Given the description of an element on the screen output the (x, y) to click on. 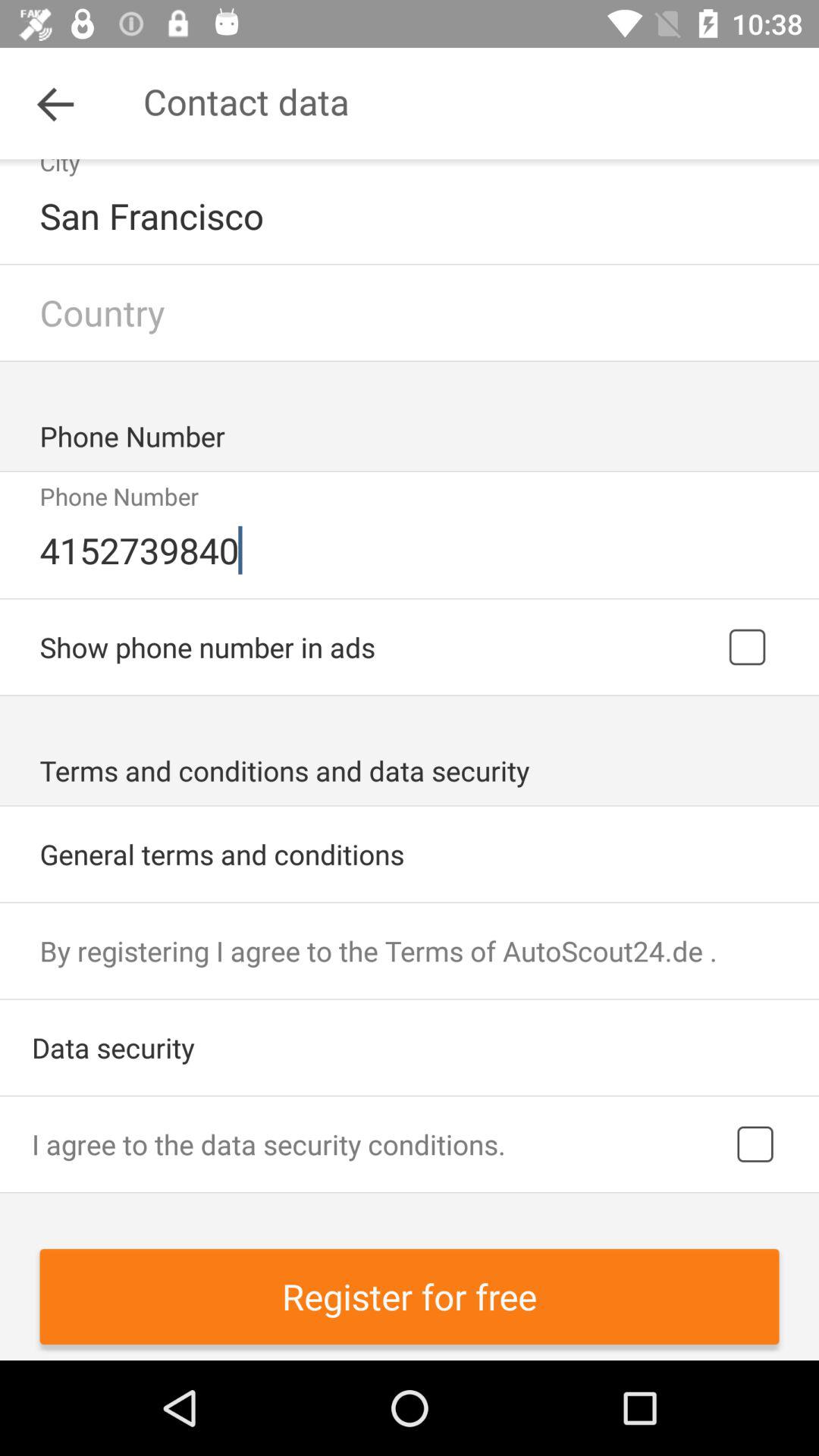
input country (409, 312)
